Given the description of an element on the screen output the (x, y) to click on. 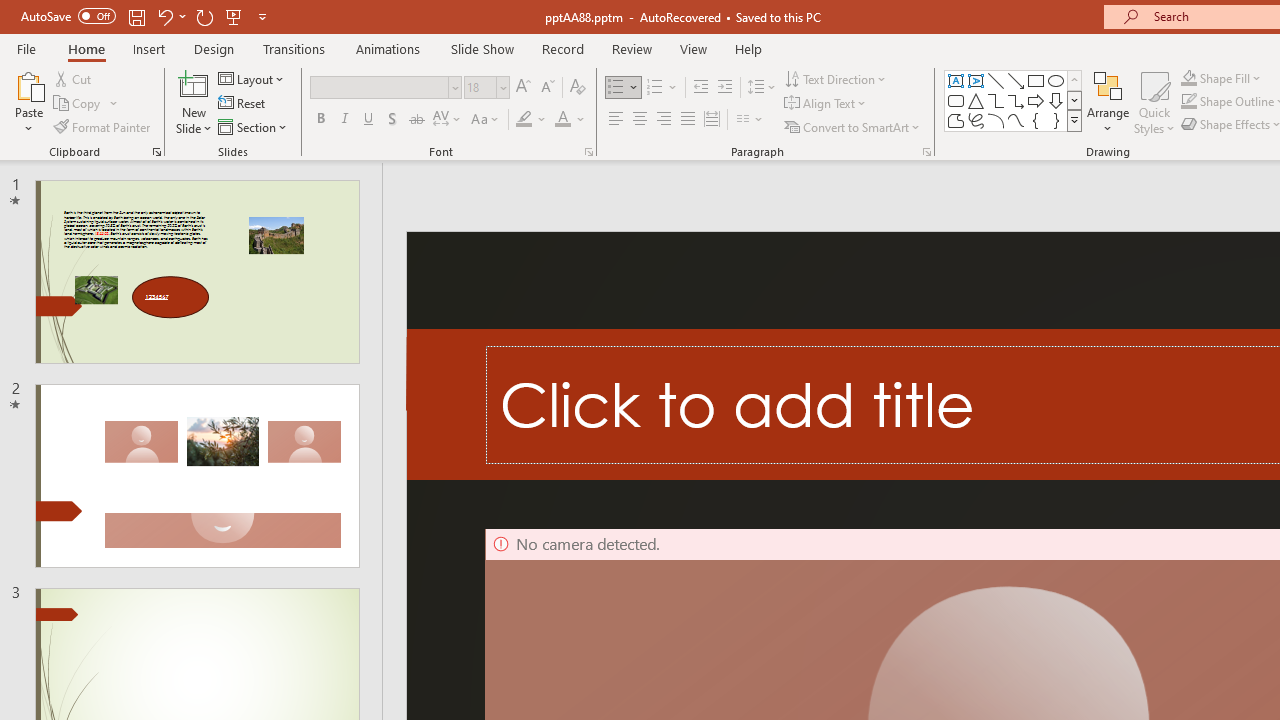
Copy (85, 103)
Row Down (1074, 100)
Bullets (623, 87)
Row up (1074, 79)
Bold (320, 119)
Numbering (654, 87)
Help (748, 48)
Center (639, 119)
Paste (28, 102)
Shape Fill Aqua, Accent 2 (1188, 78)
Slide (196, 476)
Oval (1055, 80)
Font Color Red (562, 119)
Font (385, 87)
Right Brace (1055, 120)
